Given the description of an element on the screen output the (x, y) to click on. 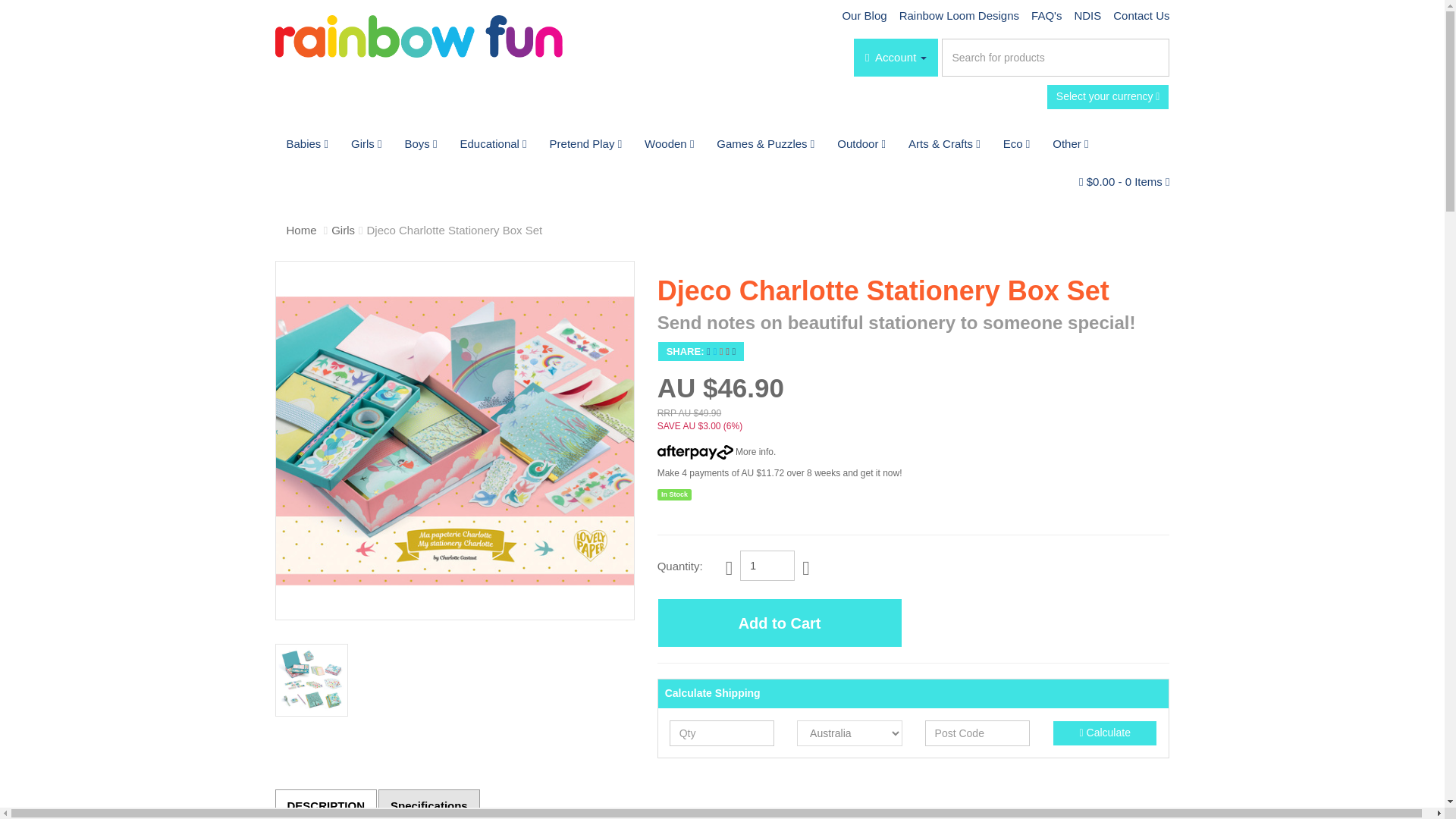
Rainbow Loom Designs (959, 15)
Contact Us (1137, 15)
Our Blog (863, 15)
Babies (307, 143)
Add to Cart (780, 622)
Large View (311, 679)
1 (766, 565)
Calculate (1104, 733)
 Account (895, 57)
Select your currency (1108, 96)
NDIS (1086, 15)
FAQ's (1046, 15)
